Given the description of an element on the screen output the (x, y) to click on. 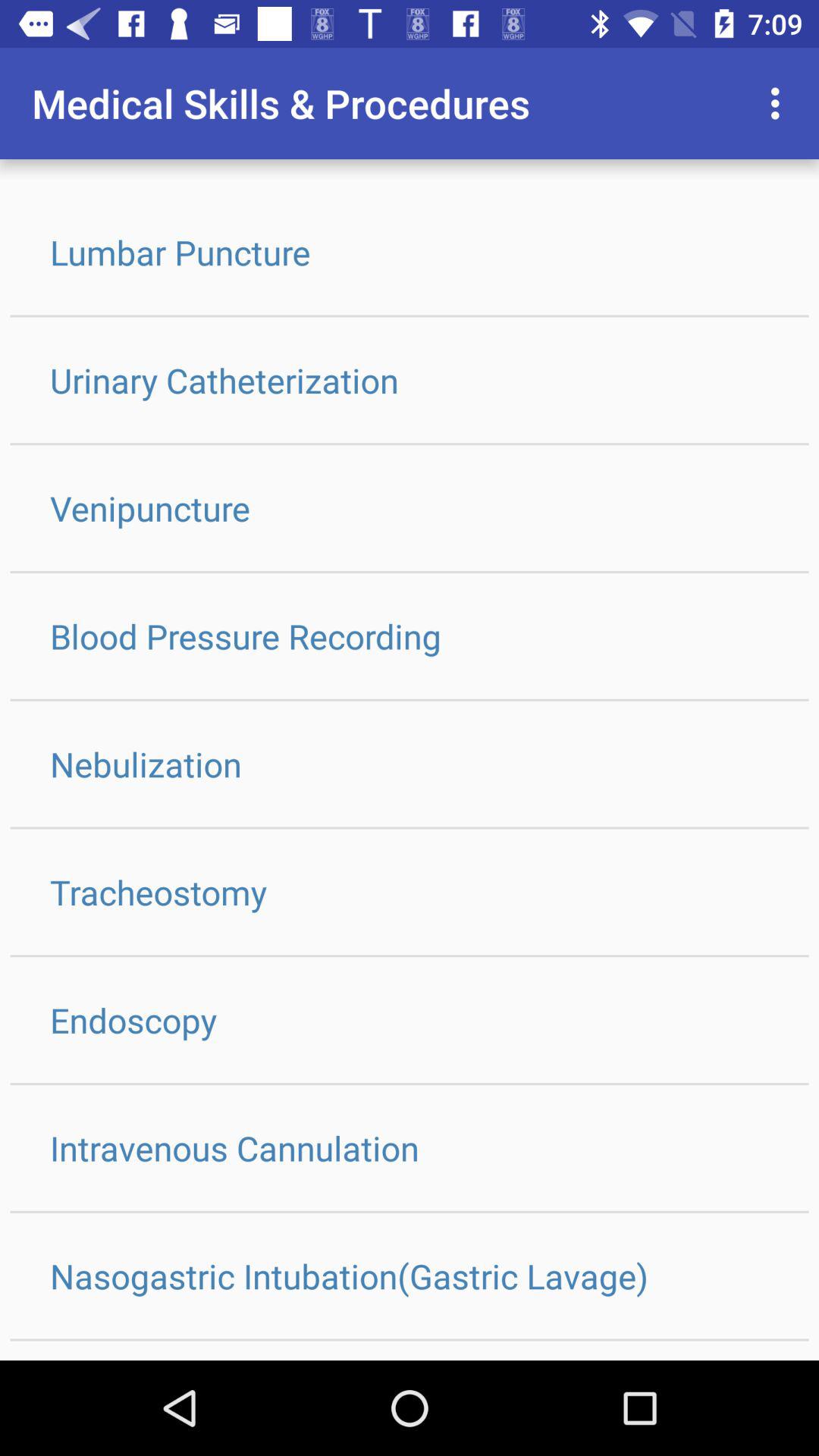
press the icon above the blood pressure recording (409, 508)
